Given the description of an element on the screen output the (x, y) to click on. 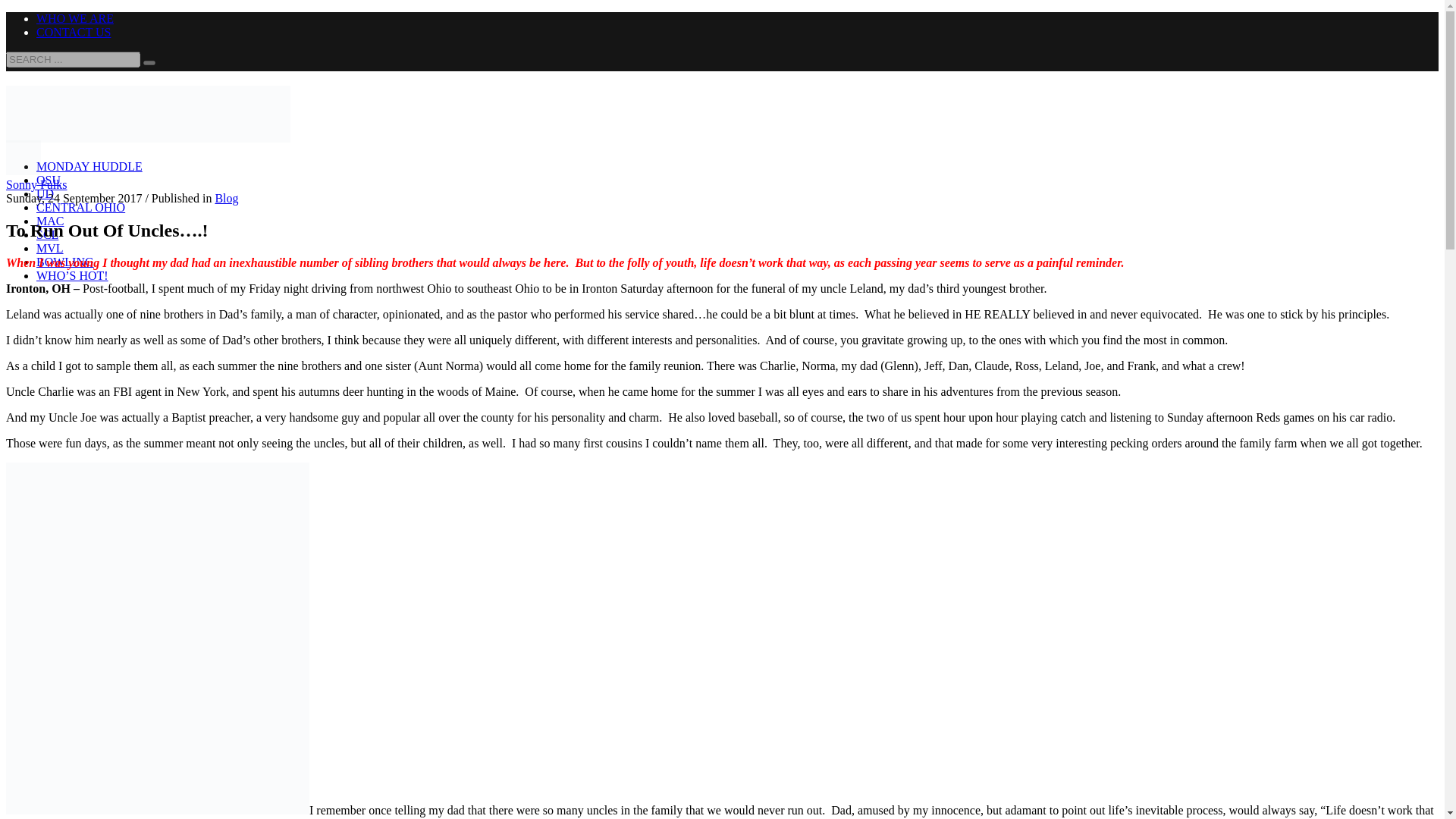
WHO WE ARE (74, 18)
UD (44, 193)
MONDAY HUDDLE (89, 165)
Sonny Fulks (35, 184)
CENTRAL OHIO (80, 206)
BOWLING (65, 261)
SCL (47, 234)
MVL (50, 247)
Posts by Sonny Fulks (35, 184)
OSU (48, 179)
CONTACT US (73, 31)
MAC (50, 220)
Blog (226, 197)
go (148, 62)
